Given the description of an element on the screen output the (x, y) to click on. 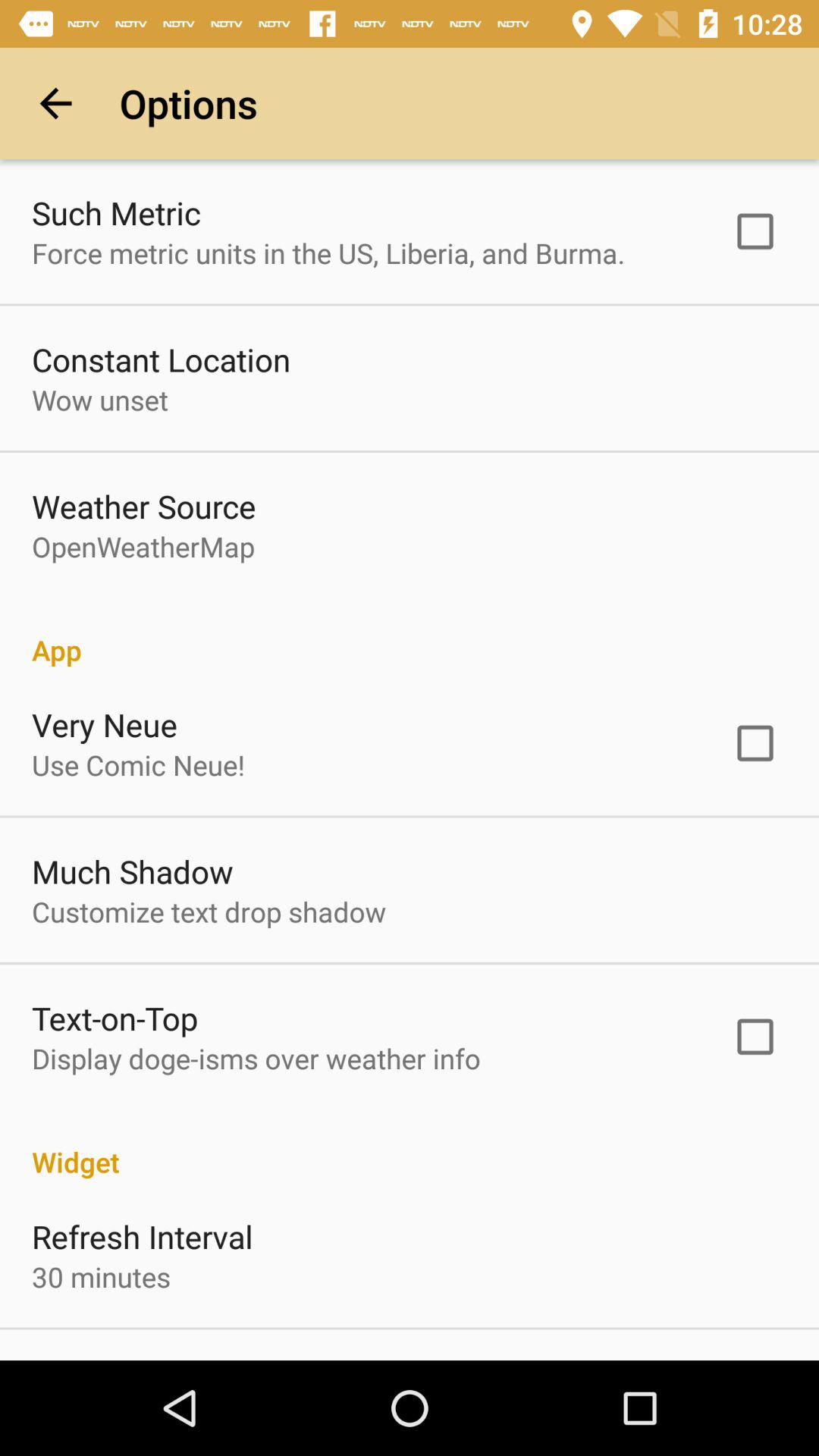
choose the 30 minutes (100, 1276)
